Given the description of an element on the screen output the (x, y) to click on. 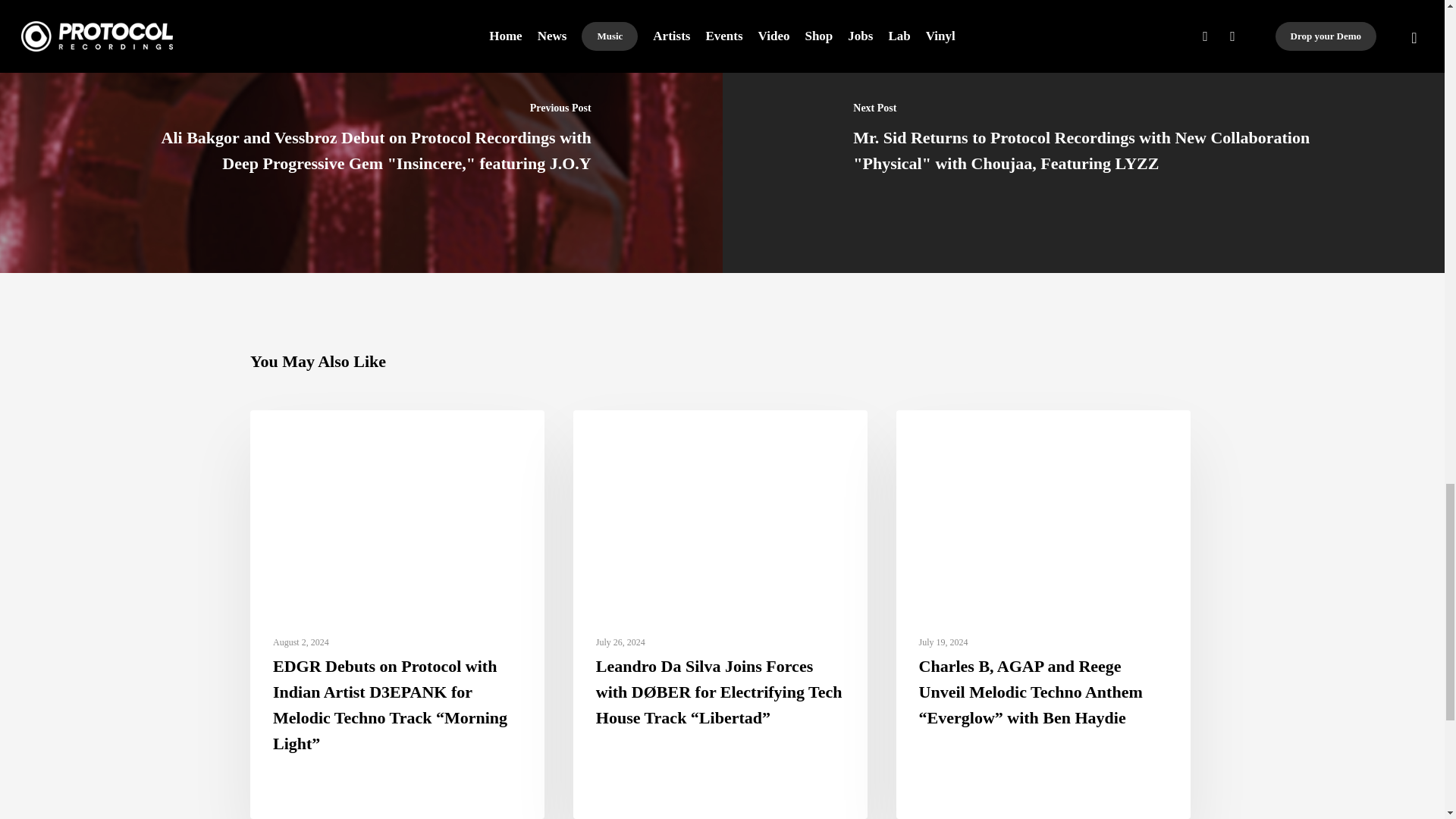
News (285, 434)
